Given the description of an element on the screen output the (x, y) to click on. 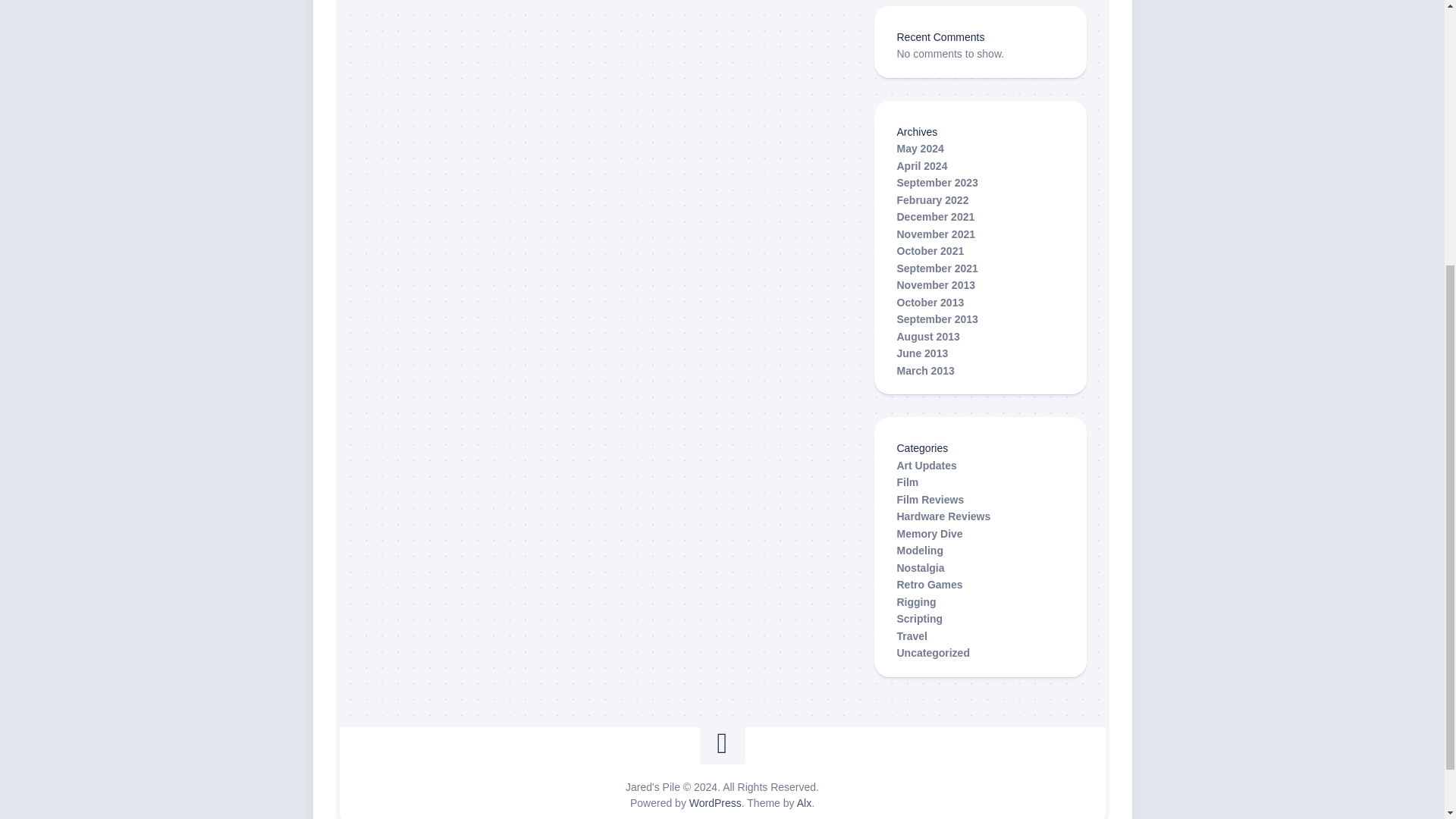
February 2022 (932, 200)
September 2013 (936, 318)
Film Reviews (929, 499)
August 2013 (927, 336)
September 2023 (936, 182)
September 2021 (936, 268)
November 2013 (935, 285)
Rigging (916, 602)
March 2013 (924, 369)
May 2024 (919, 148)
